Given the description of an element on the screen output the (x, y) to click on. 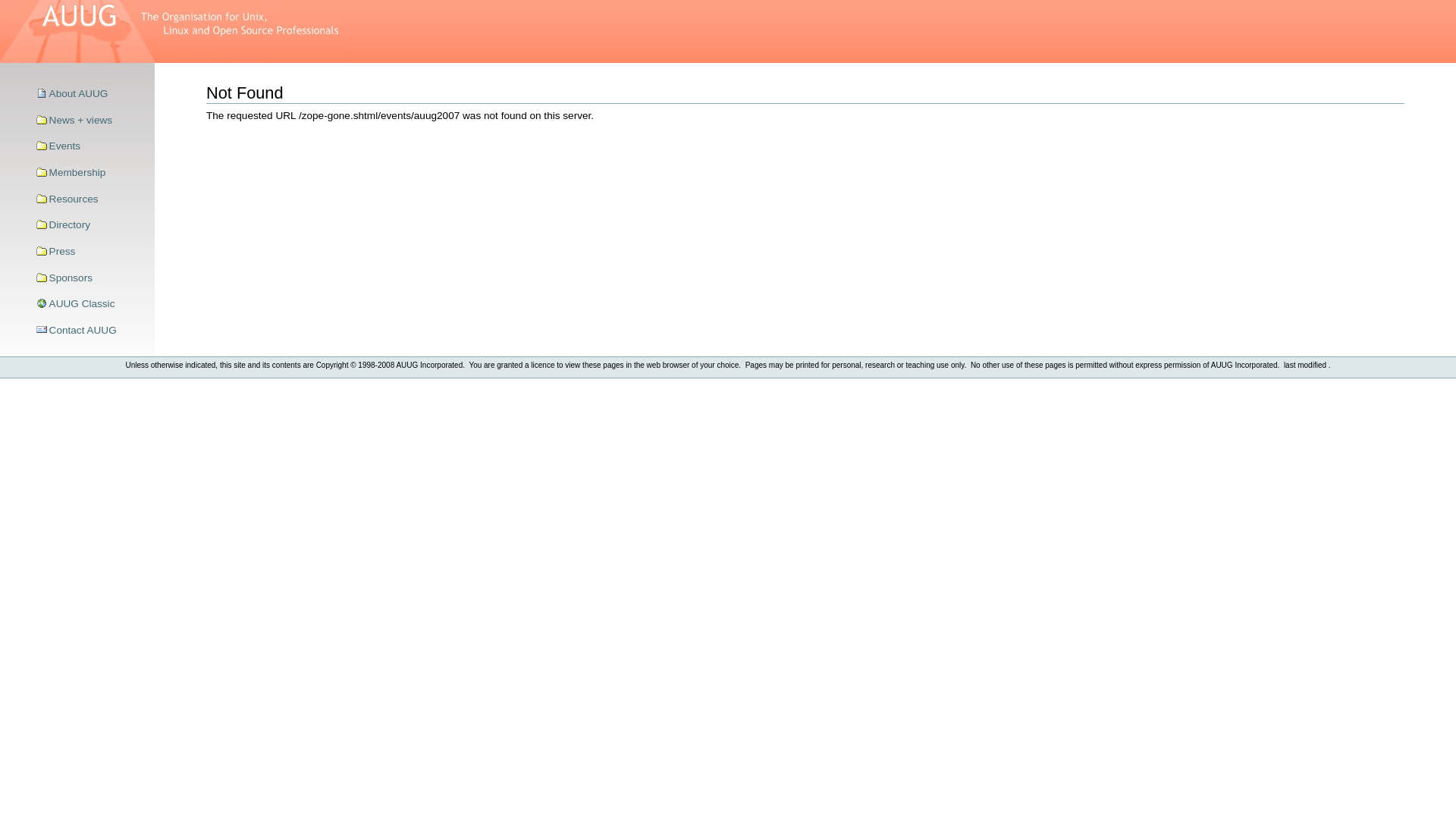
Resources Element type: text (89, 199)
Sponsors Element type: text (89, 277)
News + views Element type: text (89, 120)
Events Element type: text (89, 146)
About AUUG Element type: text (89, 93)
Contact AUUG Element type: text (89, 330)
AUUG Classic Element type: text (89, 303)
Press Element type: text (89, 251)
Membership Element type: text (89, 172)
Directory Element type: text (89, 224)
